Given the description of an element on the screen output the (x, y) to click on. 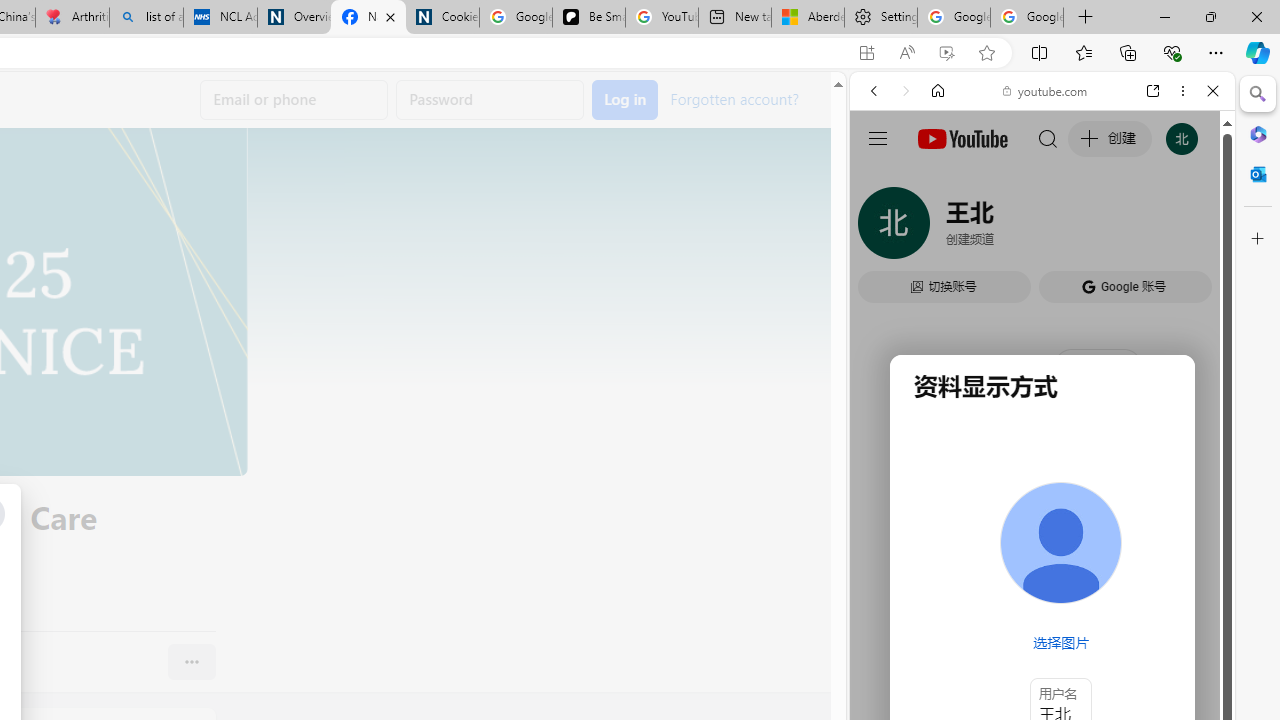
Cookies (441, 17)
Enhance video (946, 53)
Accessible login button (625, 99)
